Given the description of an element on the screen output the (x, y) to click on. 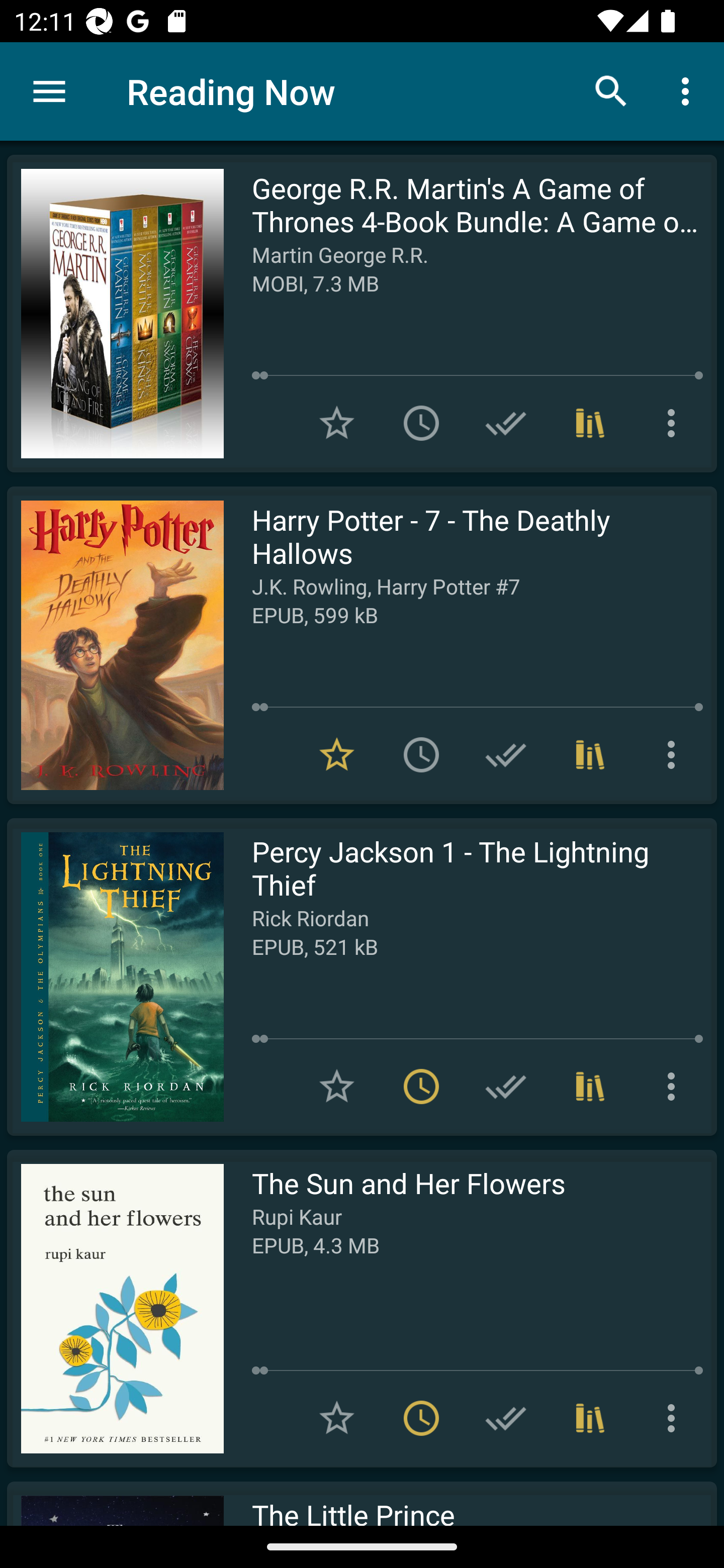
Menu (49, 91)
Search books & documents (611, 90)
More options (688, 90)
Add to Favorites (336, 423)
Add to To read (421, 423)
Add to Have read (505, 423)
Collections (1) (590, 423)
More options (674, 423)
Read Harry Potter - 7 - The Deathly Hallows (115, 645)
Remove from Favorites (336, 753)
Add to To read (421, 753)
Add to Have read (505, 753)
Collections (1) (590, 753)
More options (674, 753)
Read Percy Jackson 1 - The Lightning Thief (115, 976)
Add to Favorites (336, 1086)
Remove from To read (421, 1086)
Add to Have read (505, 1086)
Collections (1) (590, 1086)
More options (674, 1086)
Read The Sun and Her Flowers (115, 1308)
Add to Favorites (336, 1417)
Remove from To read (421, 1417)
Add to Have read (505, 1417)
Collections (1) (590, 1417)
More options (674, 1417)
